Given the description of an element on the screen output the (x, y) to click on. 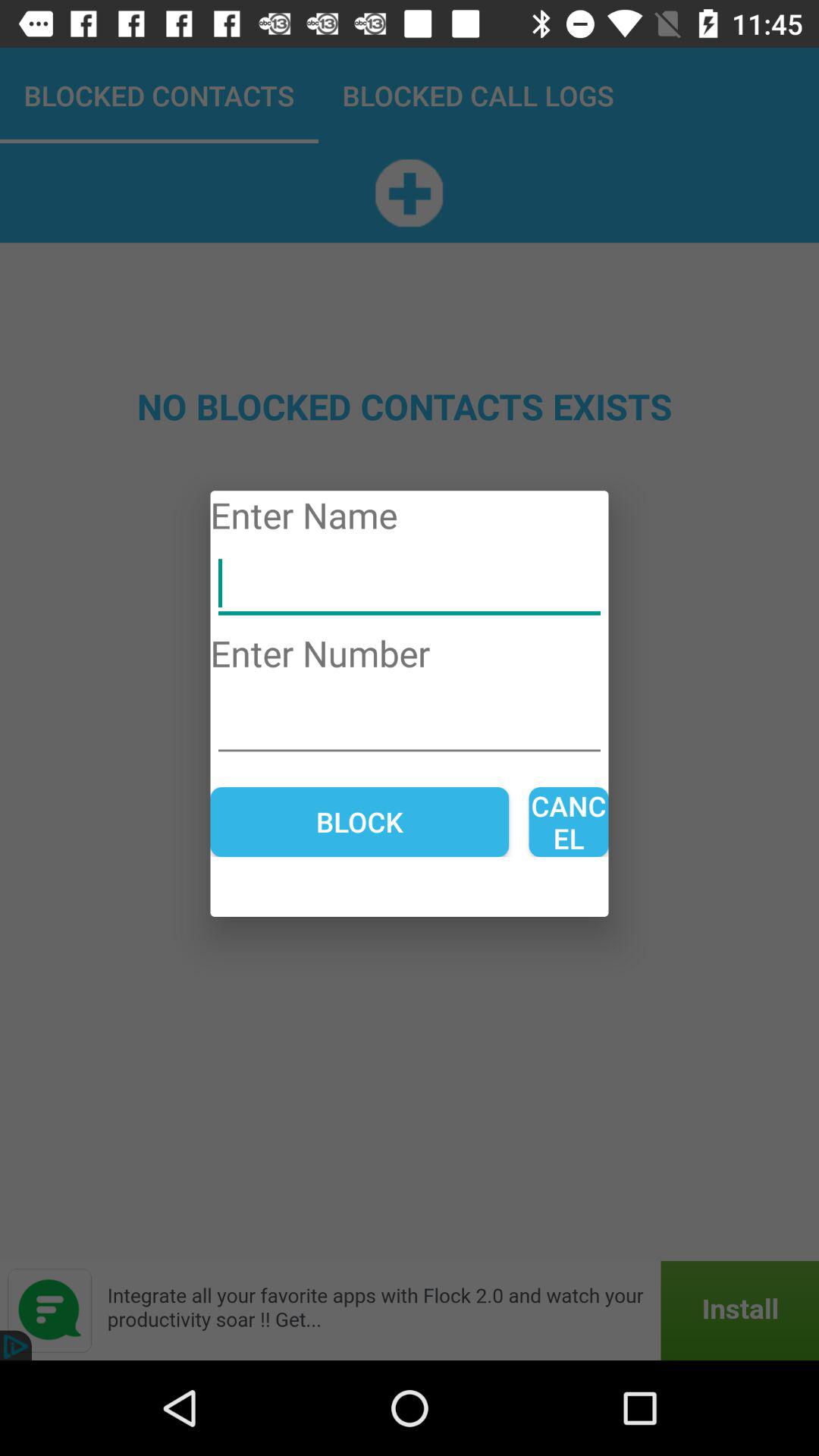
open field to enter number (409, 722)
